Given the description of an element on the screen output the (x, y) to click on. 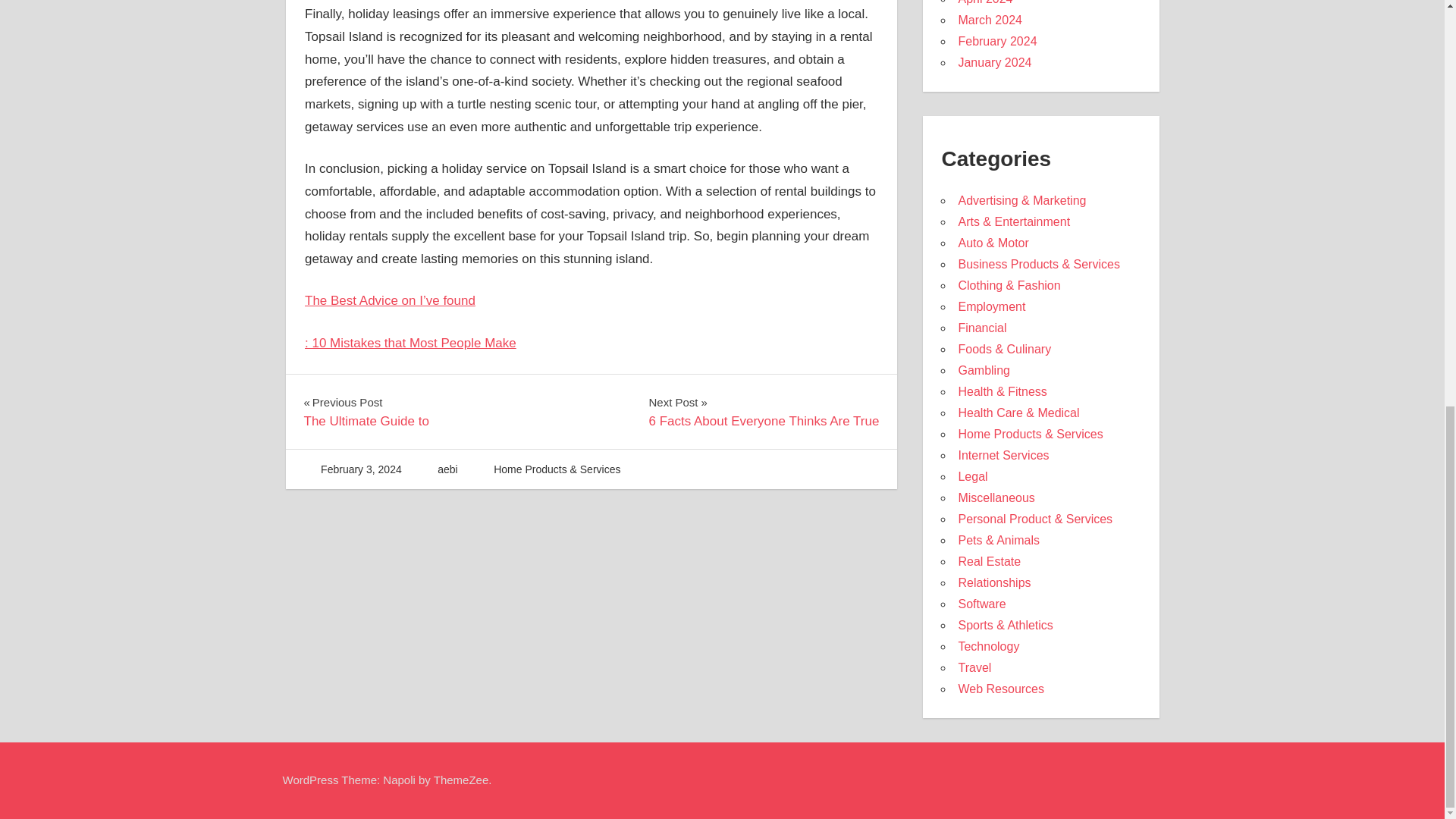
February 3, 2024 (360, 469)
: 10 Mistakes that Most People Make (763, 411)
6:43 am (410, 342)
January 2024 (360, 469)
Internet Services (994, 62)
February 2024 (1003, 454)
Legal (997, 41)
Gambling (972, 476)
Financial (983, 369)
